Given the description of an element on the screen output the (x, y) to click on. 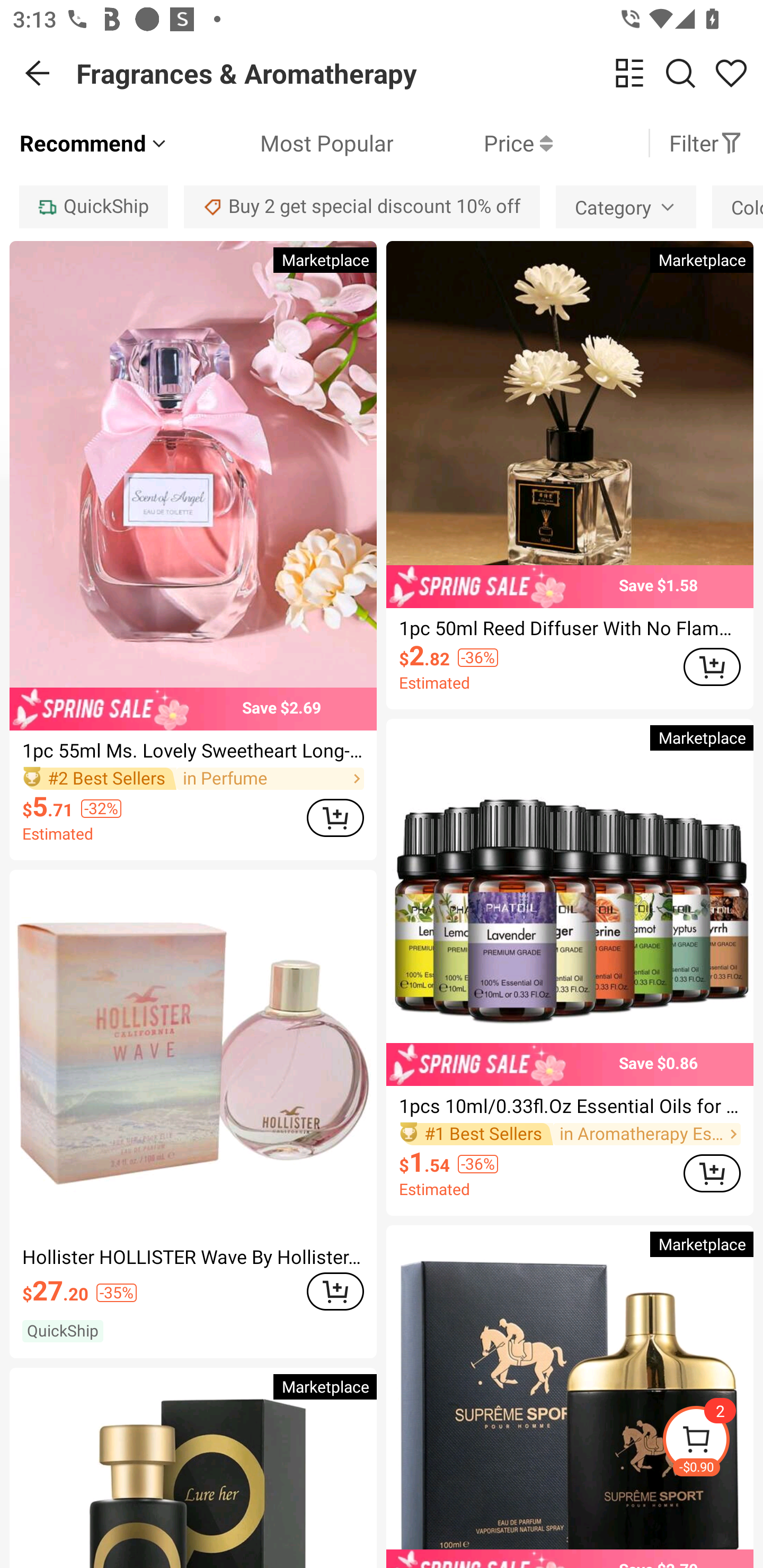
Fragrances & Aromatherapy change view Search Share (419, 72)
change view (629, 72)
Search (679, 72)
Share (730, 72)
Recommend (94, 143)
Most Popular (280, 143)
Price (472, 143)
Filter (705, 143)
QuickShip (93, 206)
Buy 2 get special discount 10% off (361, 206)
Category (625, 206)
ADD TO CART (711, 666)
#2 Best Sellers in Perfume (192, 778)
ADD TO CART (334, 817)
#1 Best Sellers in Aromatherapy Essential Oils (569, 1133)
ADD TO CART (711, 1172)
ADD TO CART (334, 1290)
-$0.90 (712, 1441)
